Given the description of an element on the screen output the (x, y) to click on. 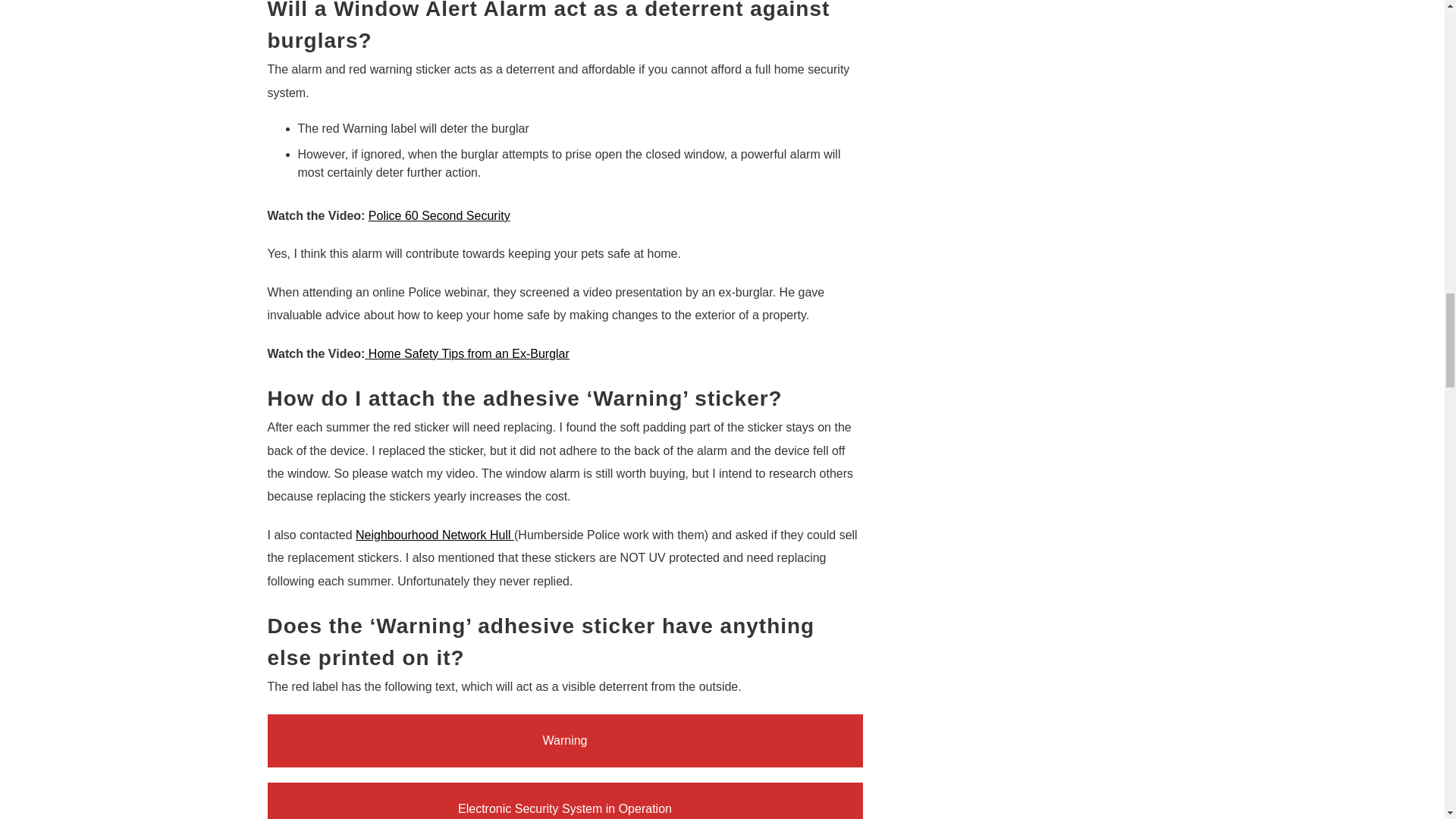
Home Safety Tips from an Ex-Burglar (468, 353)
Police 60 Second Security (439, 215)
Neighbourhood Network Hull (434, 534)
